Given the description of an element on the screen output the (x, y) to click on. 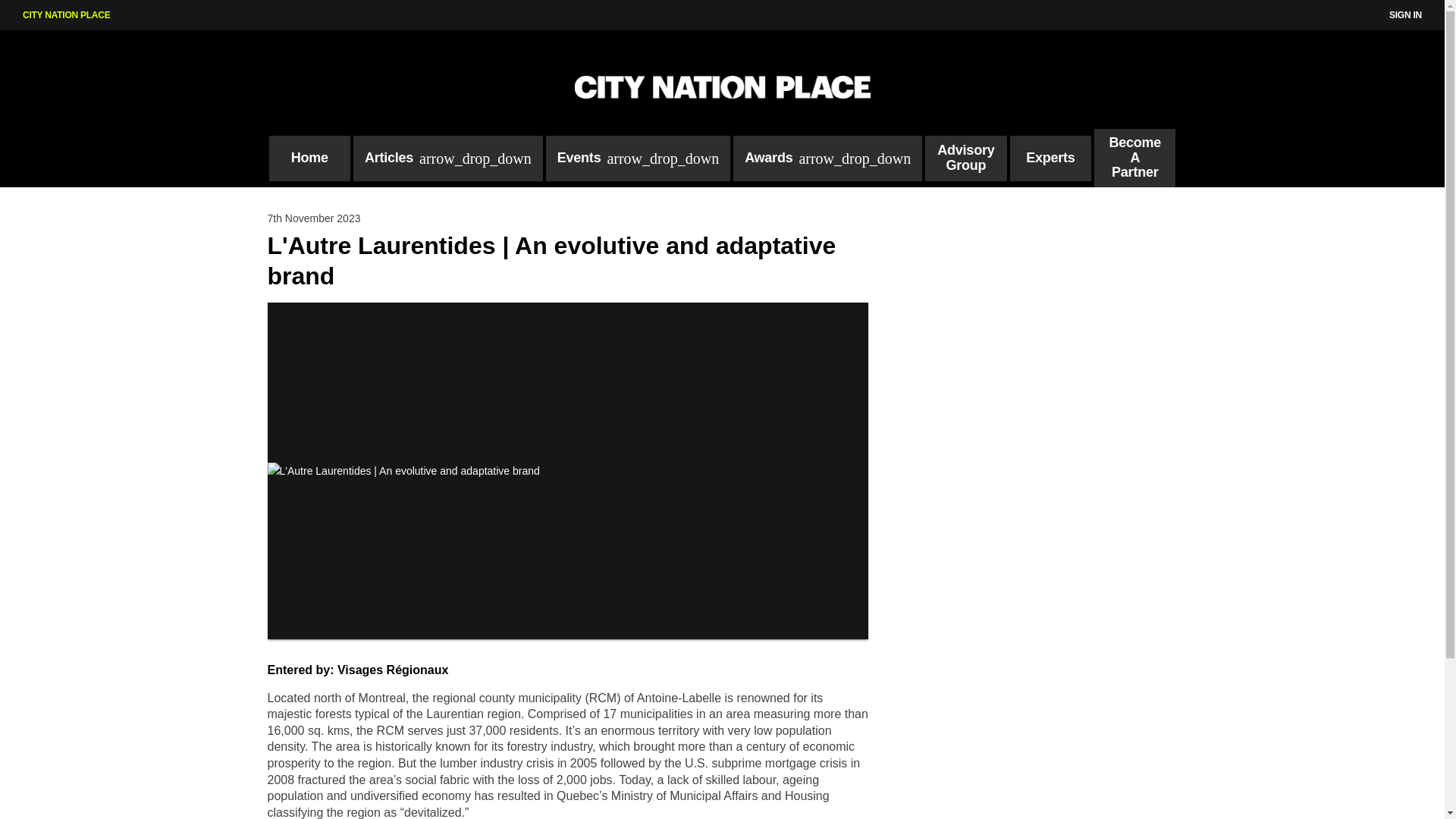
Become A Partner (1134, 157)
Advisory Group (965, 157)
Experts (1050, 157)
Home (308, 157)
SIGN IN (1405, 14)
